Given the description of an element on the screen output the (x, y) to click on. 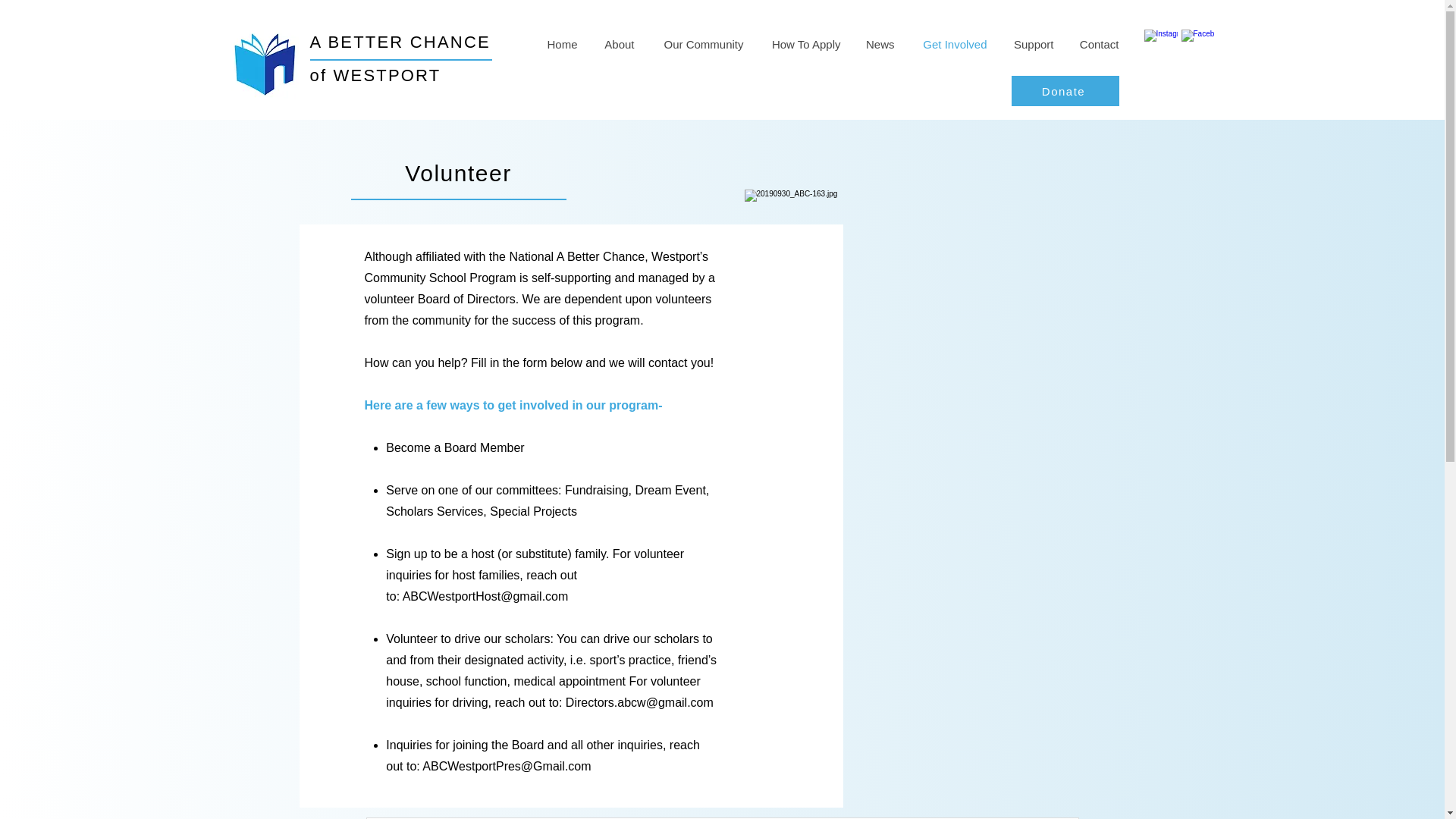
Home (561, 44)
Get Involved (951, 44)
How To Apply (803, 44)
Contact (1096, 44)
Donate (1065, 91)
Support (1030, 44)
News (878, 44)
